Given the description of an element on the screen output the (x, y) to click on. 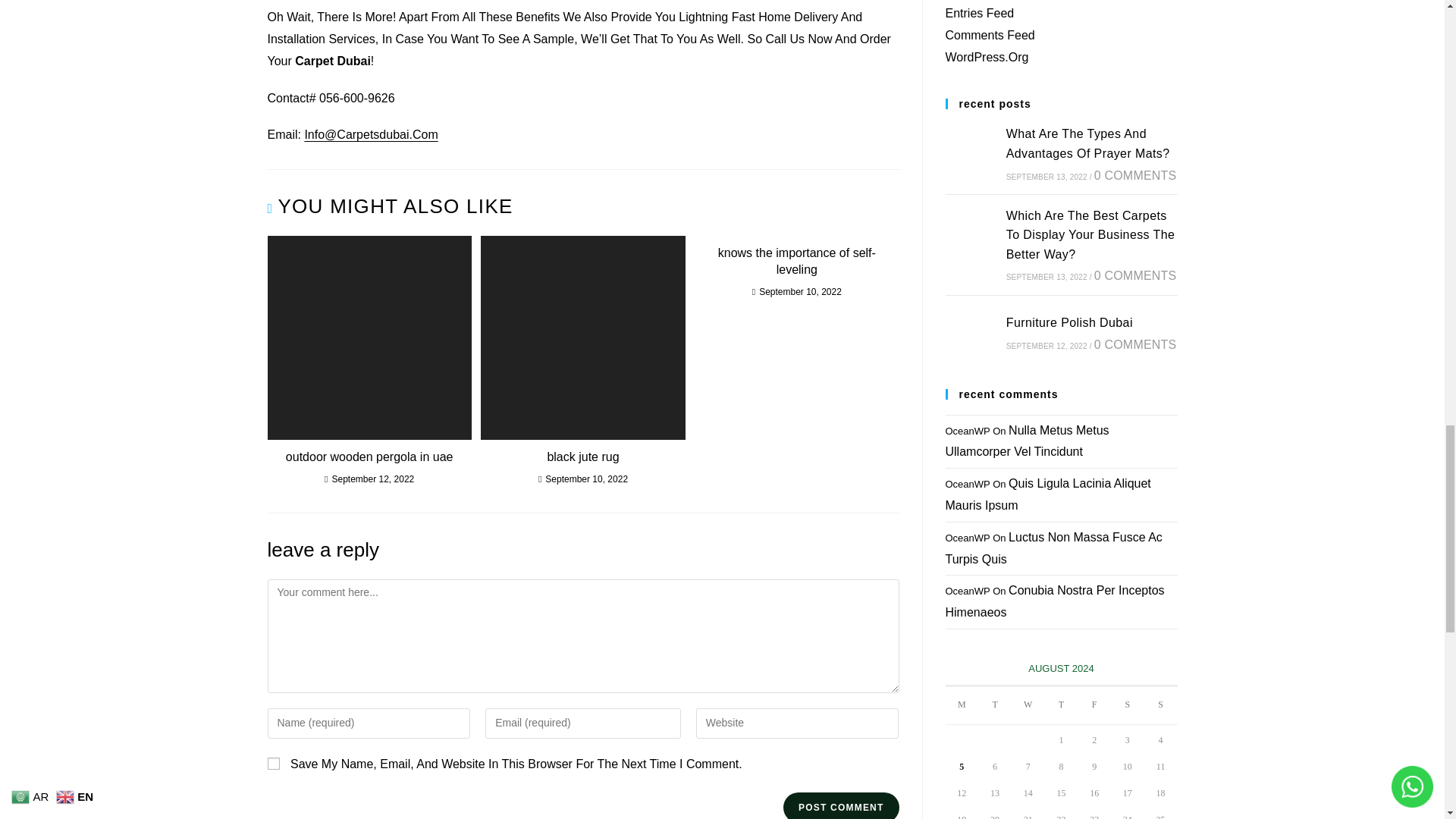
Wednesday (1028, 705)
Sunday (1160, 705)
Post Comment (840, 805)
Monday (961, 705)
Saturday (1127, 705)
yes (272, 763)
Furniture Polish Dubai (969, 332)
What are the types and advantages of Prayer mats? (969, 153)
Tuesday (994, 705)
Thursday (1061, 705)
Friday (1093, 705)
